Given the description of an element on the screen output the (x, y) to click on. 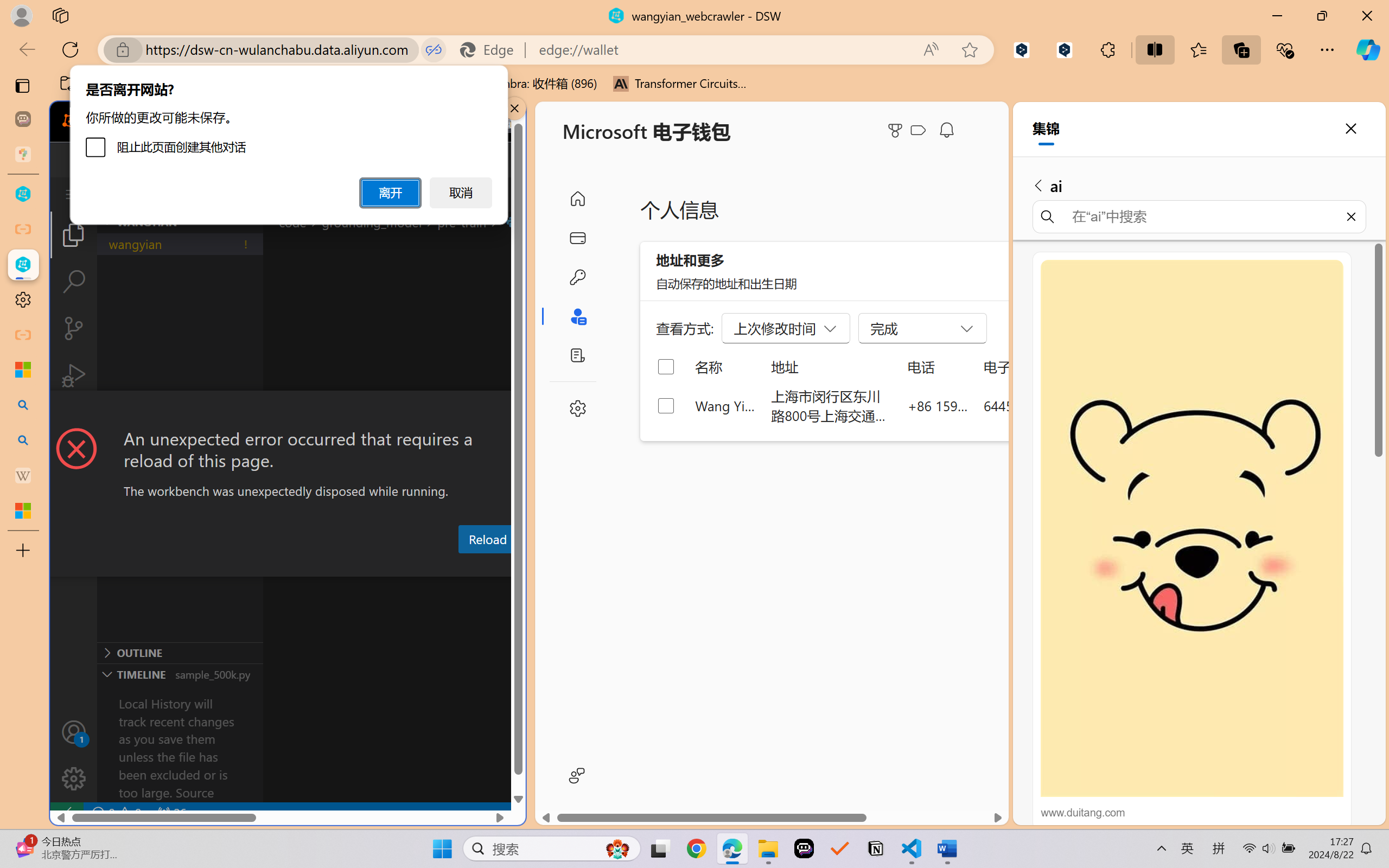
Accounts - Sign in requested (73, 732)
Debug Console (Ctrl+Shift+Y) (463, 565)
Class: actions-container (287, 410)
Output (Ctrl+Shift+U) (377, 565)
644553698@qq.com (1043, 405)
No Problems (115, 812)
